Given the description of an element on the screen output the (x, y) to click on. 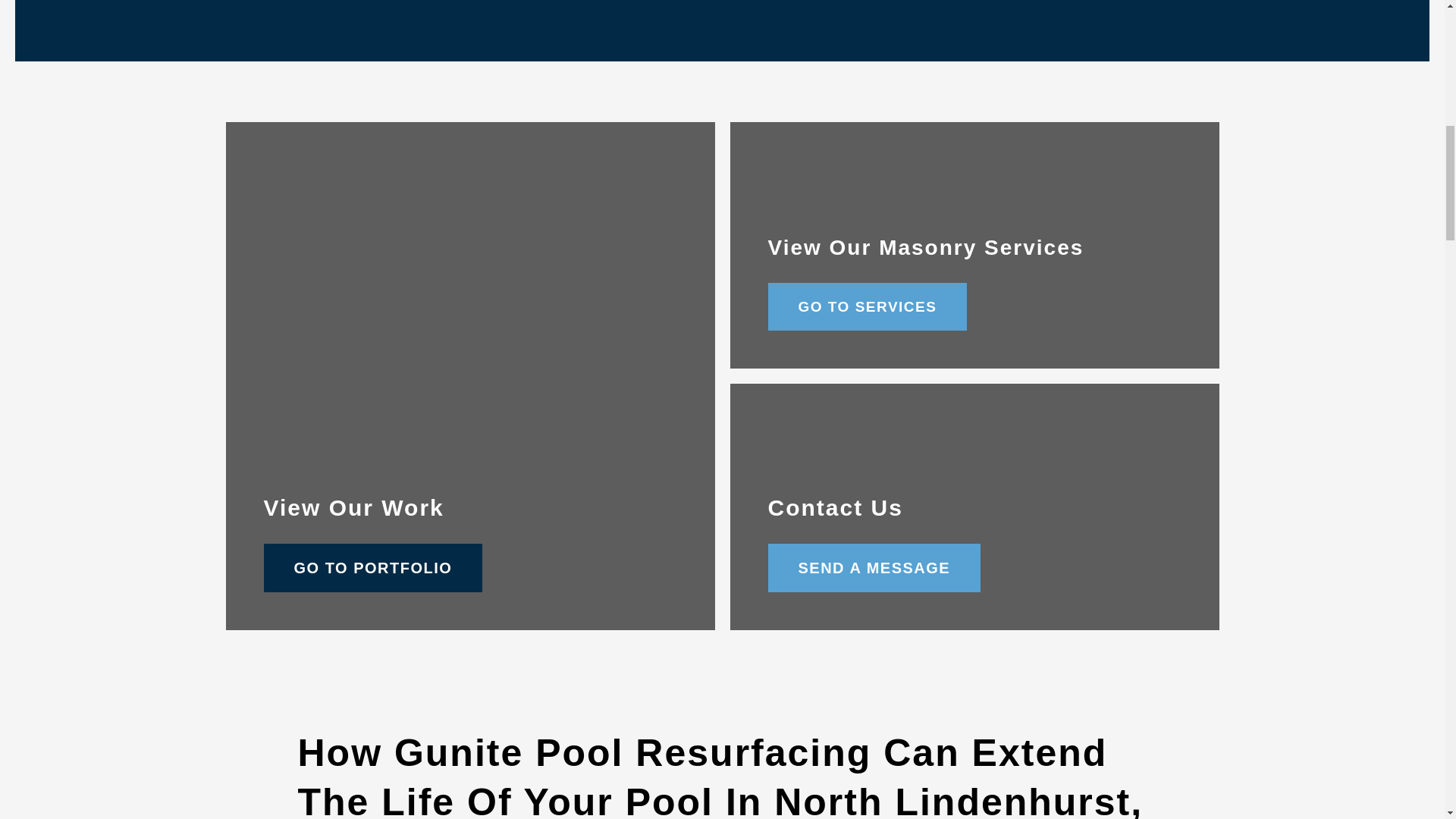
GO TO PORTFOLIO (373, 567)
